Given the description of an element on the screen output the (x, y) to click on. 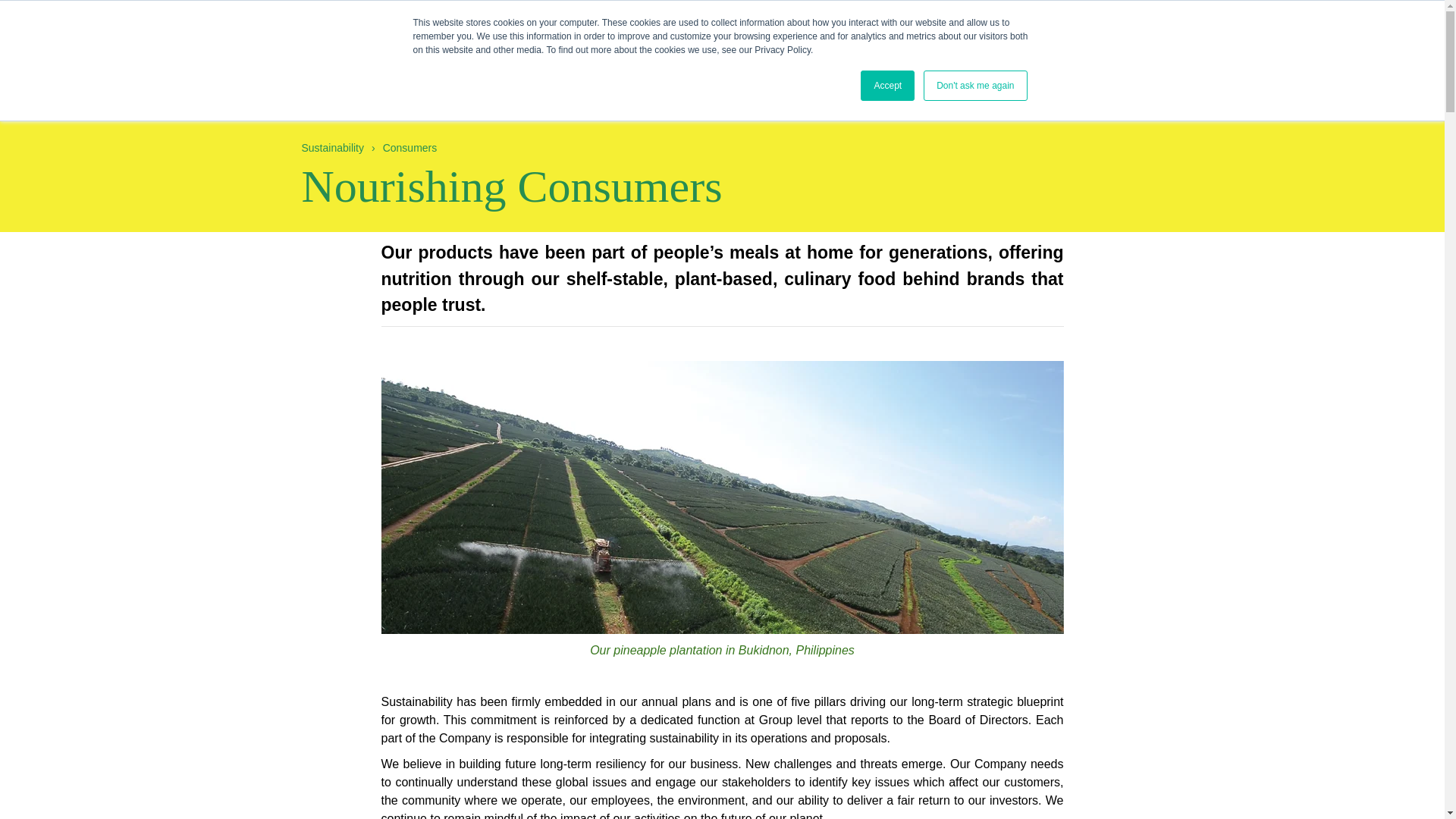
OUR REPORT (358, 83)
logo.png (342, 34)
OUR JOURNEY (439, 83)
COMMUNITIES (728, 83)
RECIPES (713, 13)
CONTACT (834, 13)
SUSTAINABILITY (637, 52)
UN SDG (508, 83)
EMPLOYEES (650, 83)
INVESTORS (715, 52)
ADS (773, 13)
CONSUMERS (574, 83)
Accept (887, 85)
ABOUT US (475, 52)
SUSTAINABILITY FRAMEWORK (1047, 83)
